Given the description of an element on the screen output the (x, y) to click on. 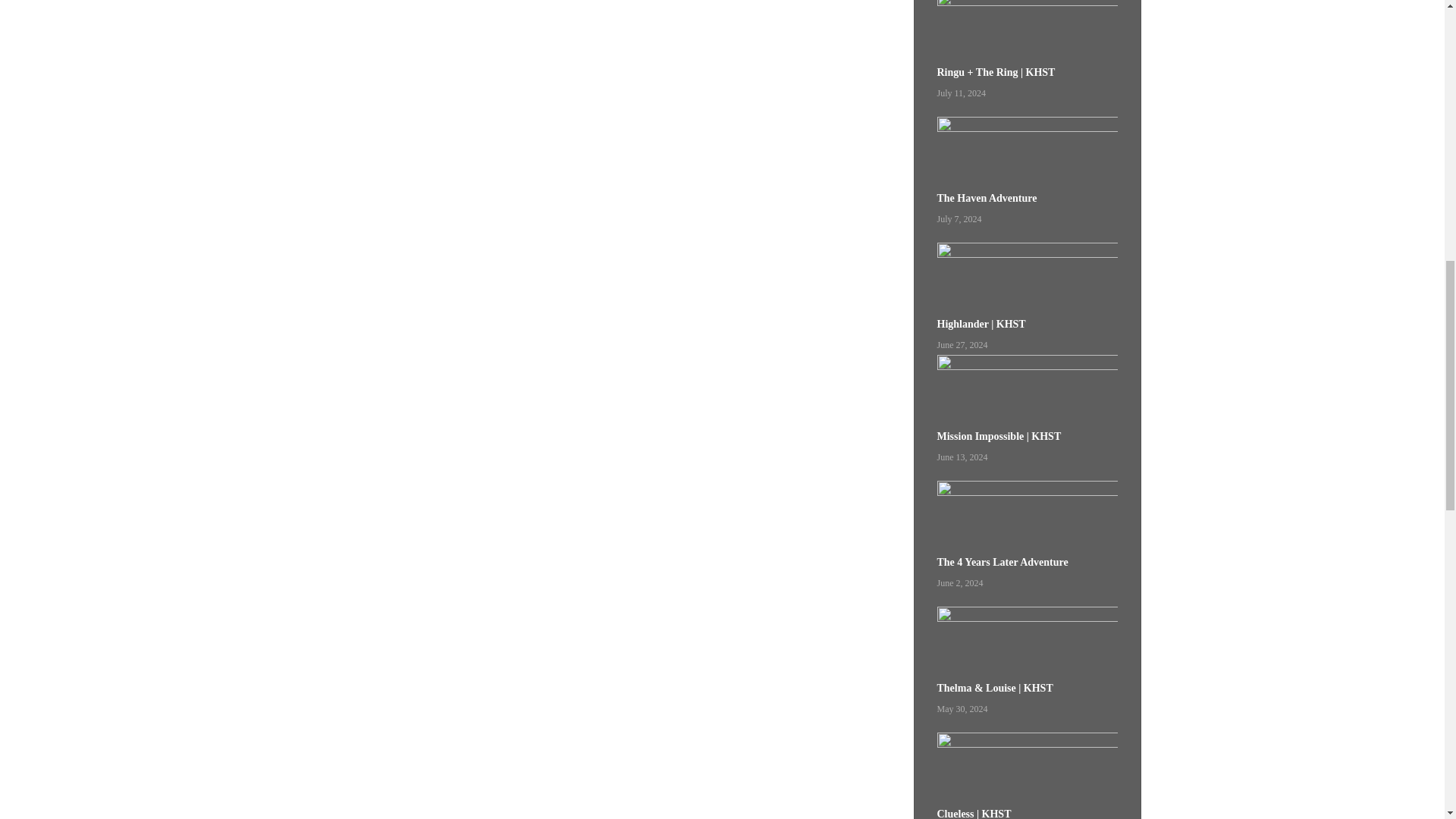
The Haven Adventure (1027, 152)
The 4 Years Later Adventure (1027, 515)
